Given the description of an element on the screen output the (x, y) to click on. 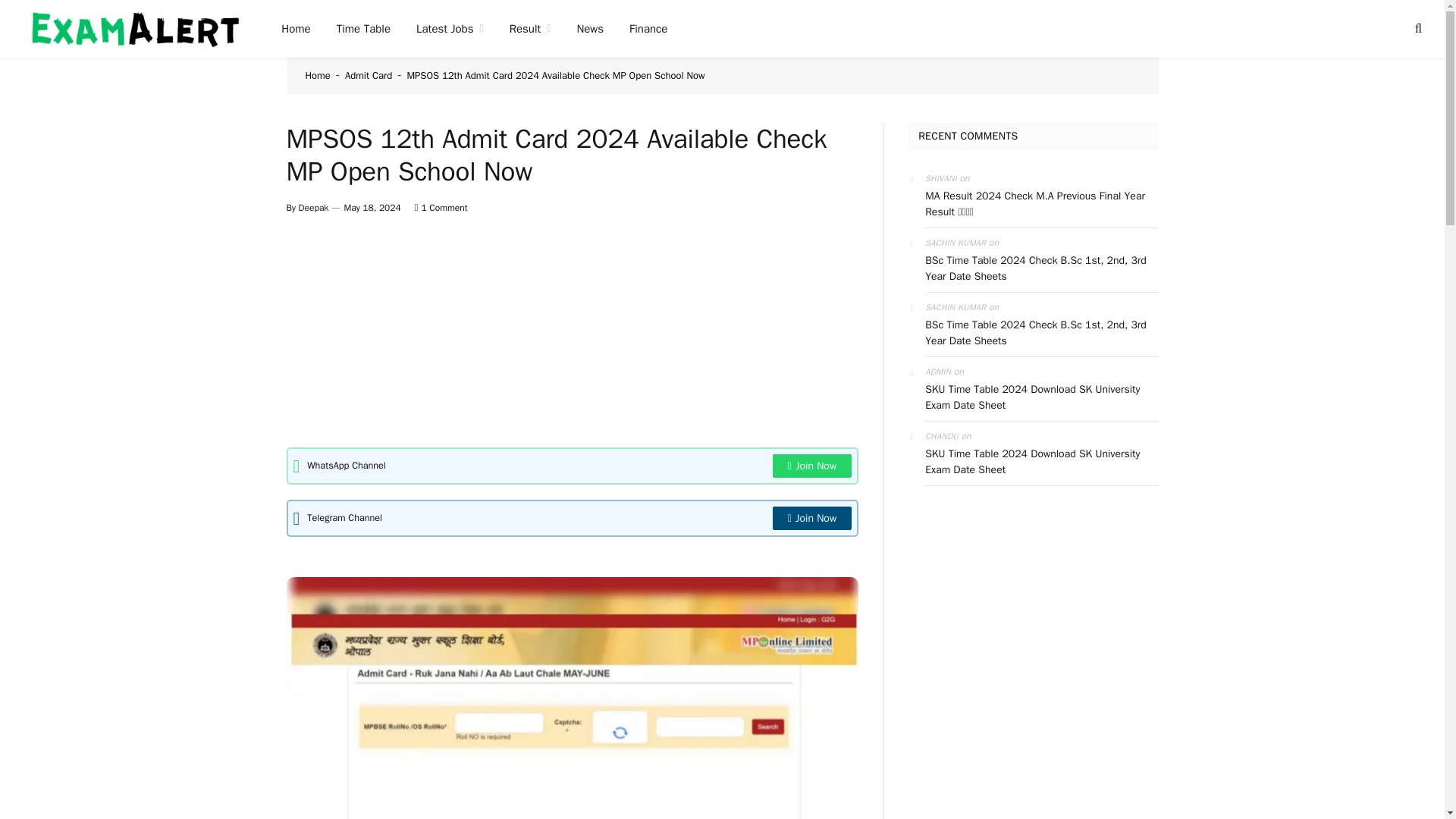
Time Table (363, 28)
Latest Jobs (449, 28)
Join Now (812, 465)
Finance (647, 28)
Admit Card (368, 74)
Exam Alert (132, 28)
Join Now (812, 517)
Deepak (313, 207)
Home (295, 28)
News (589, 28)
